Given the description of an element on the screen output the (x, y) to click on. 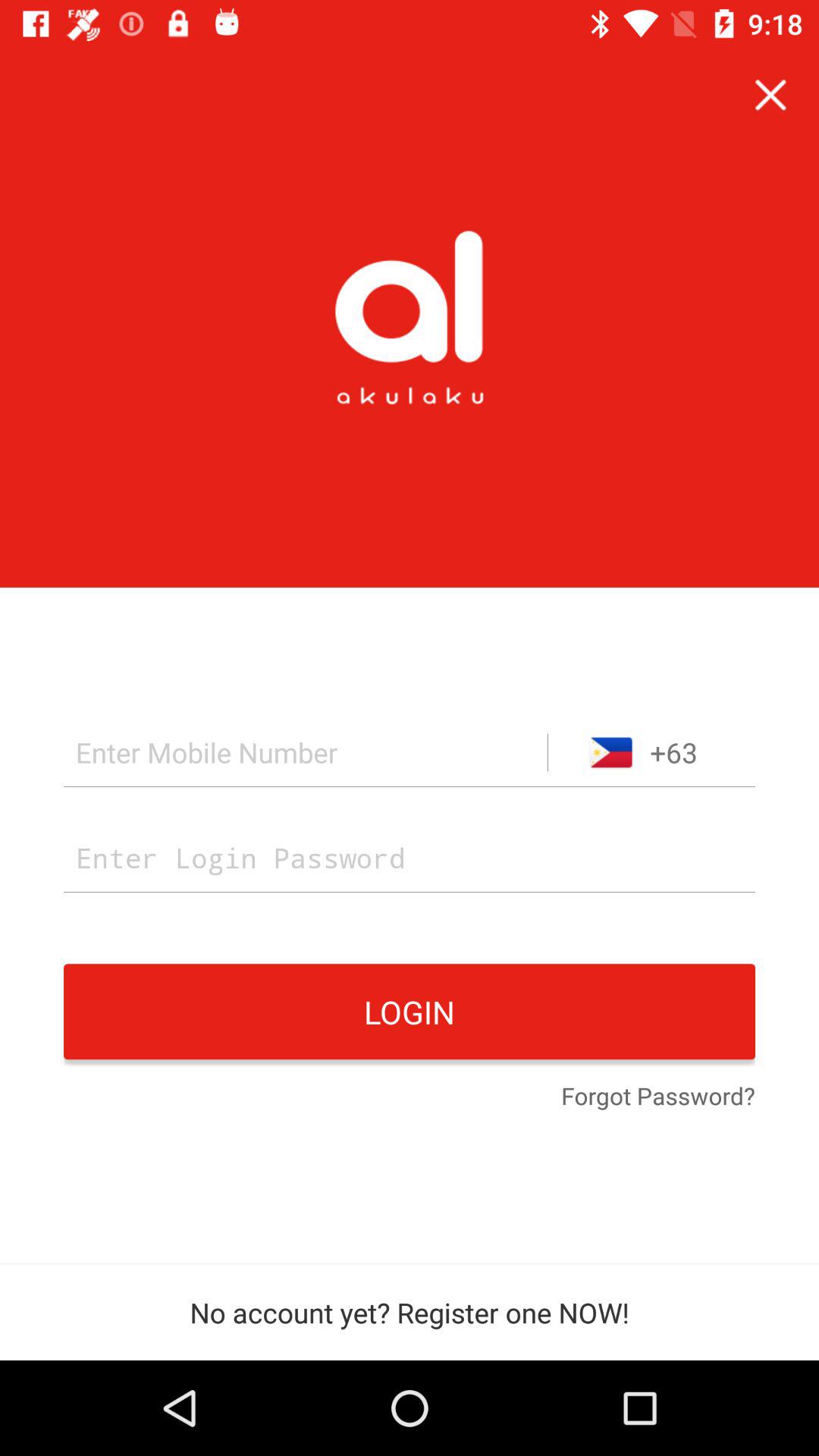
enter phone number (305, 752)
